Given the description of an element on the screen output the (x, y) to click on. 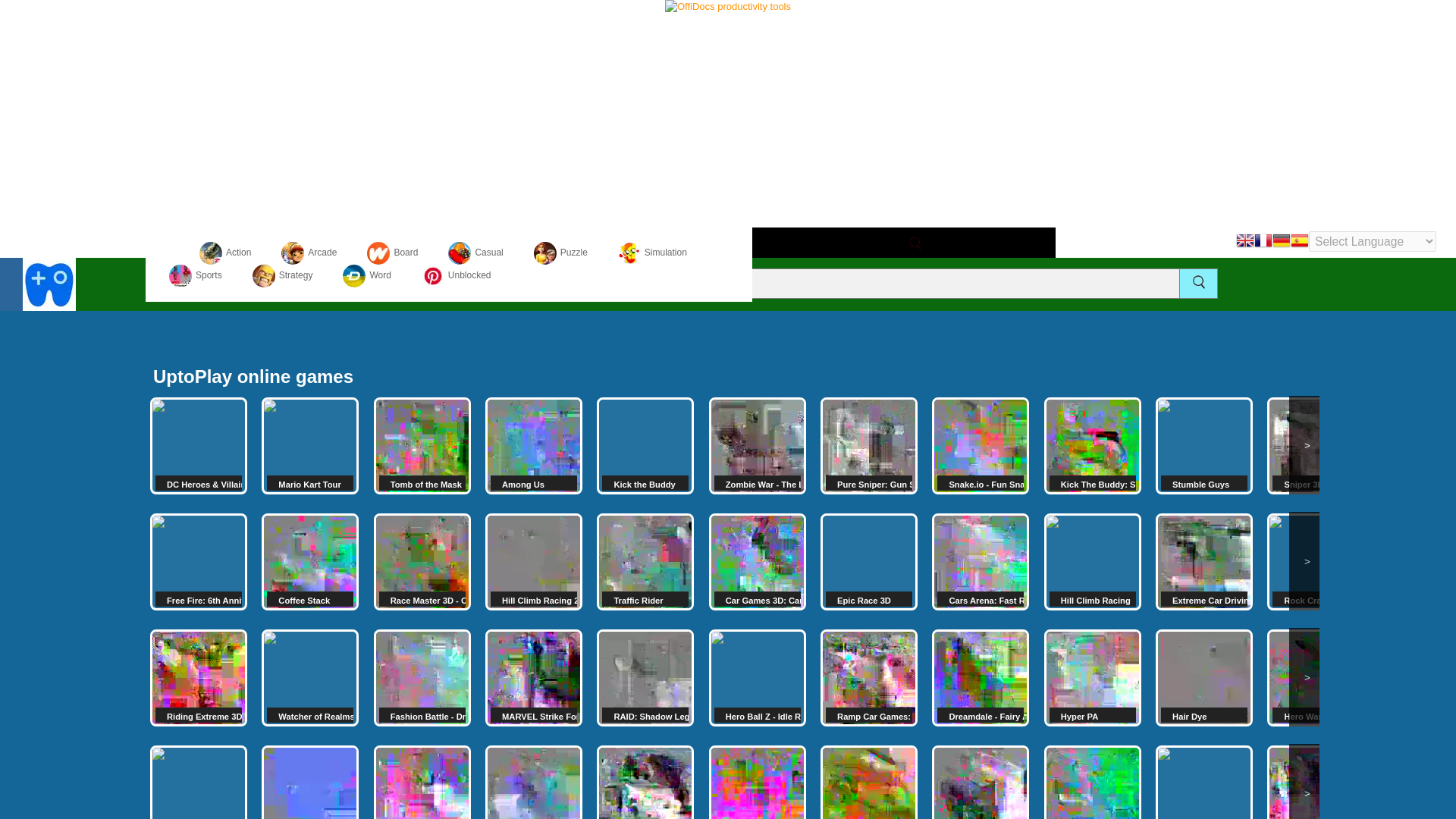
Kick The Buddy: Second Kick (1092, 445)
Epic Race 3D (869, 561)
search (915, 243)
search (1199, 280)
Kick the Buddy (645, 445)
Sport games online (195, 275)
Word (366, 275)
Traffic Rider (645, 561)
Unblocked Games Premium (457, 275)
Simulation (652, 252)
